Given the description of an element on the screen output the (x, y) to click on. 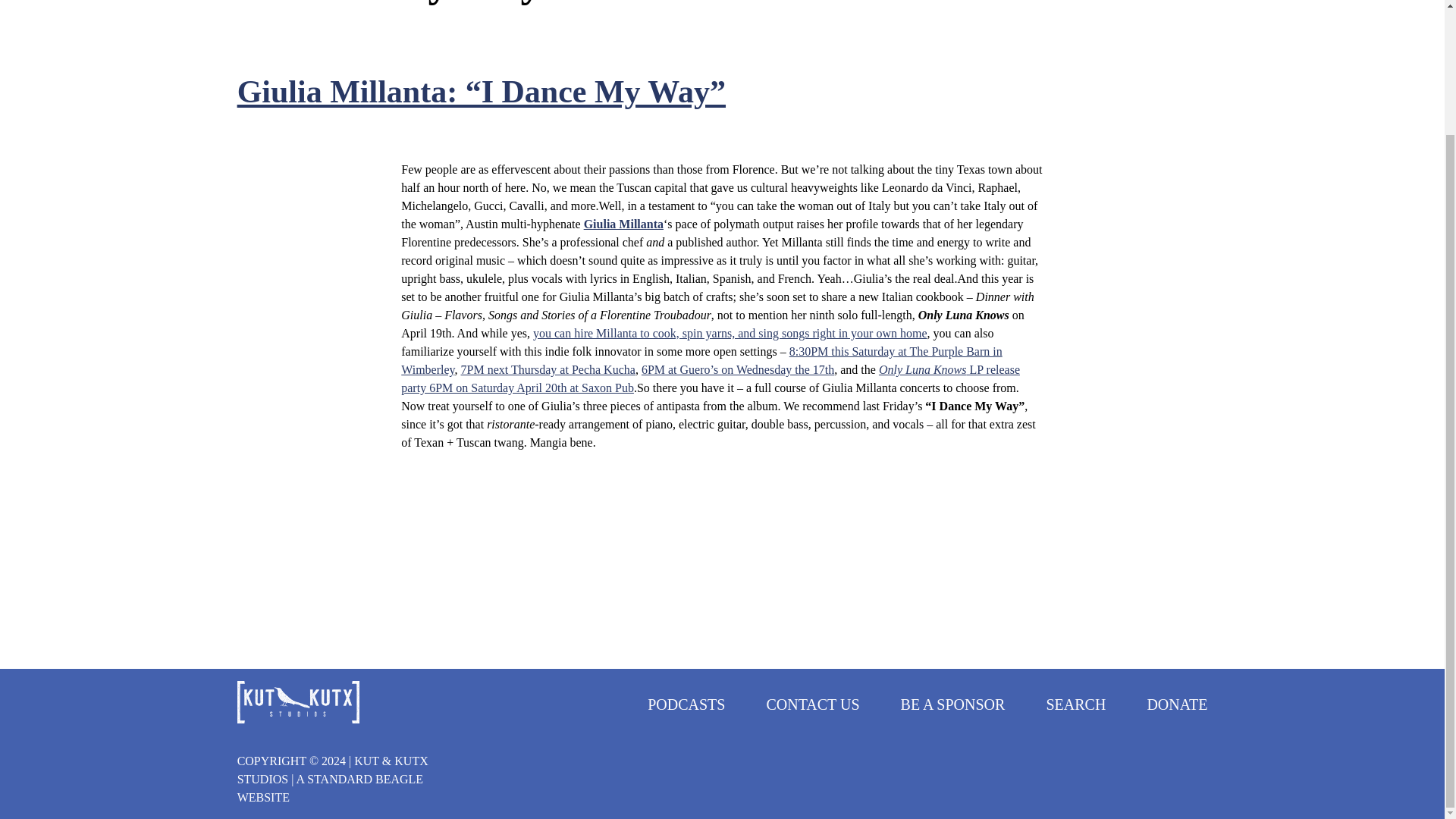
SEARCH (1075, 704)
PODCASTS (686, 704)
8:30PM this Saturday at The Purple Barn in Wimberley (701, 359)
Giulia Millanta (623, 223)
CONTACT US (812, 704)
DONATE (1177, 704)
7PM next Thursday at Pecha Kucha (547, 369)
BE A SPONSOR (953, 704)
